Given the description of an element on the screen output the (x, y) to click on. 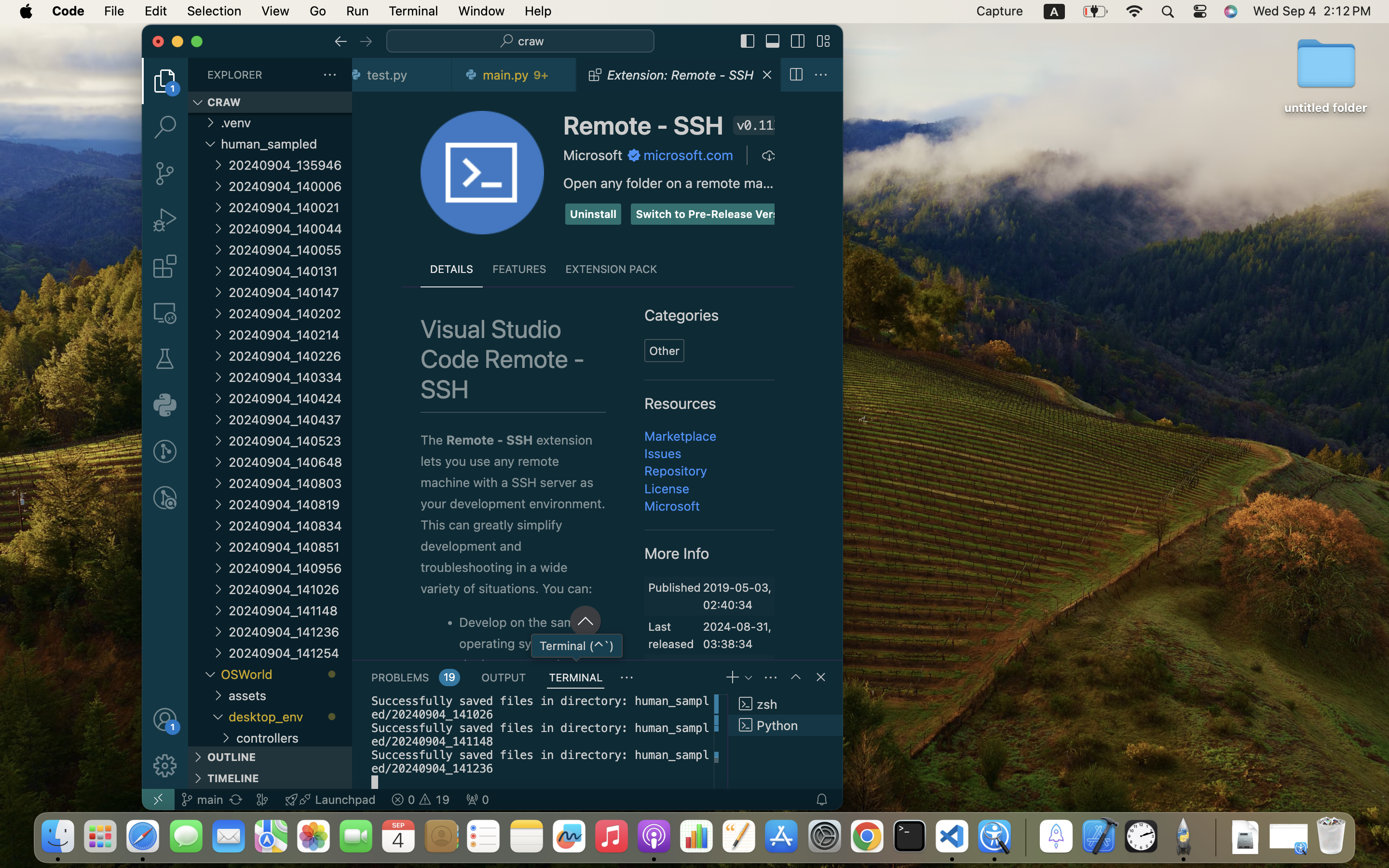
 Element type: AXGroup (164, 80)
 Element type: AXGroup (164, 266)
 Element type: AXCheckBox (795, 676)
OSWorld  Element type: AXGroup (286, 673)
0 Element type: AXRadioButton (164, 404)
